Given the description of an element on the screen output the (x, y) to click on. 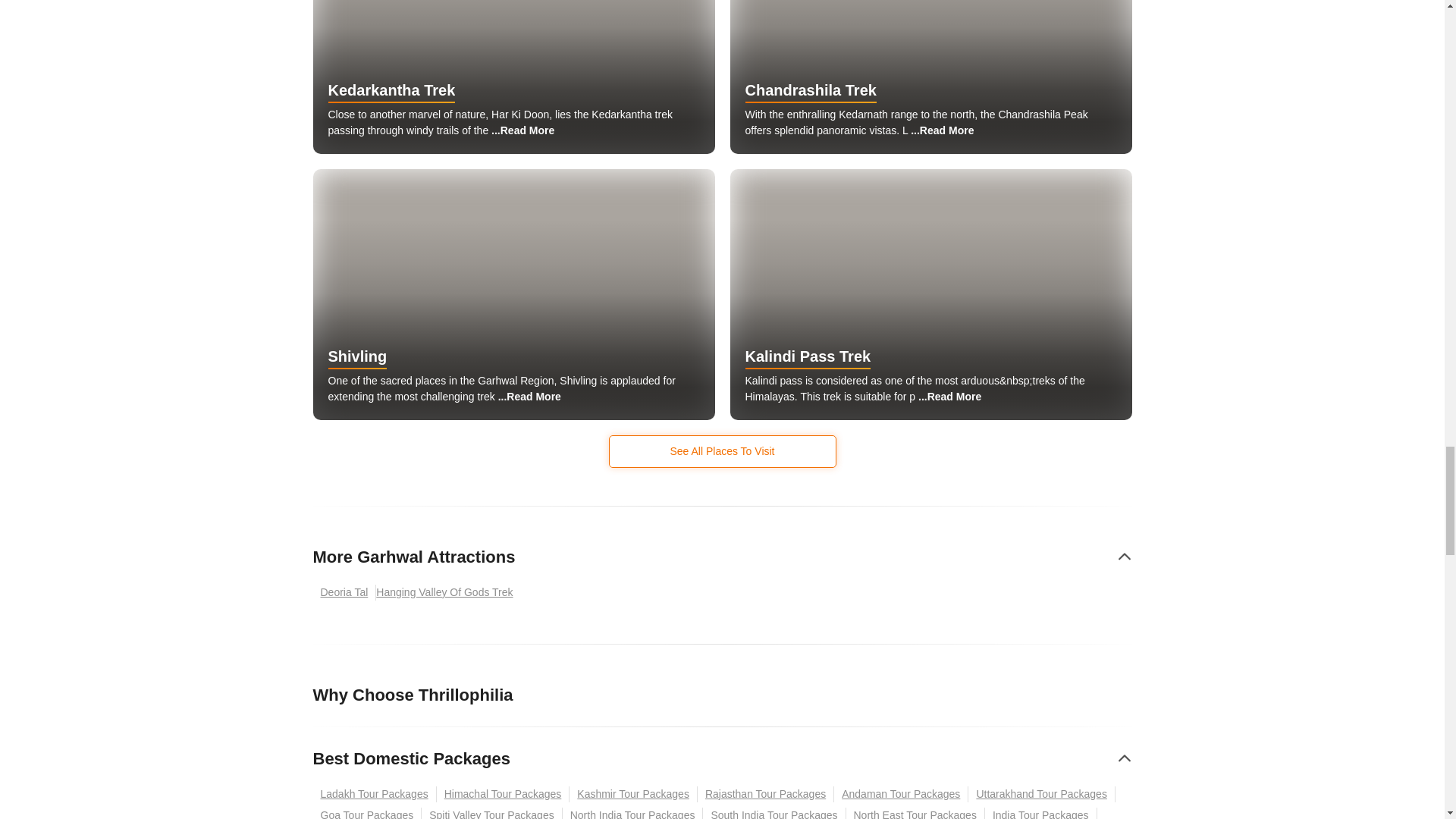
North India Tour Packages (632, 813)
Spiti Valley Tour Packages (492, 813)
Rajasthan Tour Packages (765, 794)
Deoria Tal (344, 592)
Uttarakhand Tour Packages (1041, 794)
Andaman Tour Packages (901, 794)
Ladakh Tour Packages (374, 794)
North East Tour Packages (915, 813)
See All Places To Visit (721, 450)
India Tour Packages (1041, 813)
Kashmir Tour Packages (633, 794)
Goa Tour Packages (367, 813)
Himachal Tour Packages (503, 794)
